Given the description of an element on the screen output the (x, y) to click on. 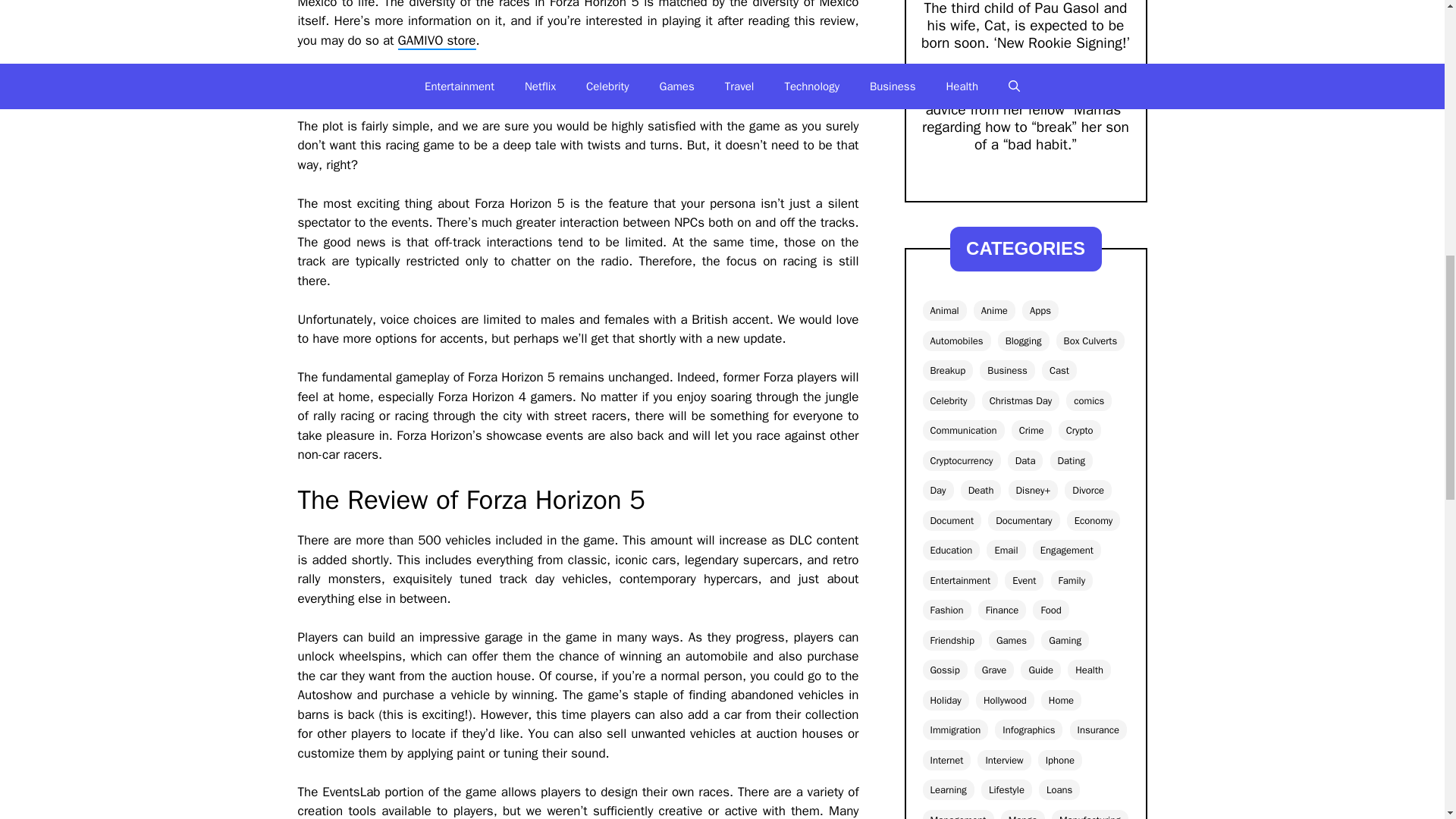
Anime (994, 310)
Box Culverts (1091, 340)
Blogging (1023, 340)
Apps (1040, 310)
GAMIVO store (436, 40)
Automobiles (955, 340)
Animal (943, 310)
Scroll back to top (1406, 720)
